Given the description of an element on the screen output the (x, y) to click on. 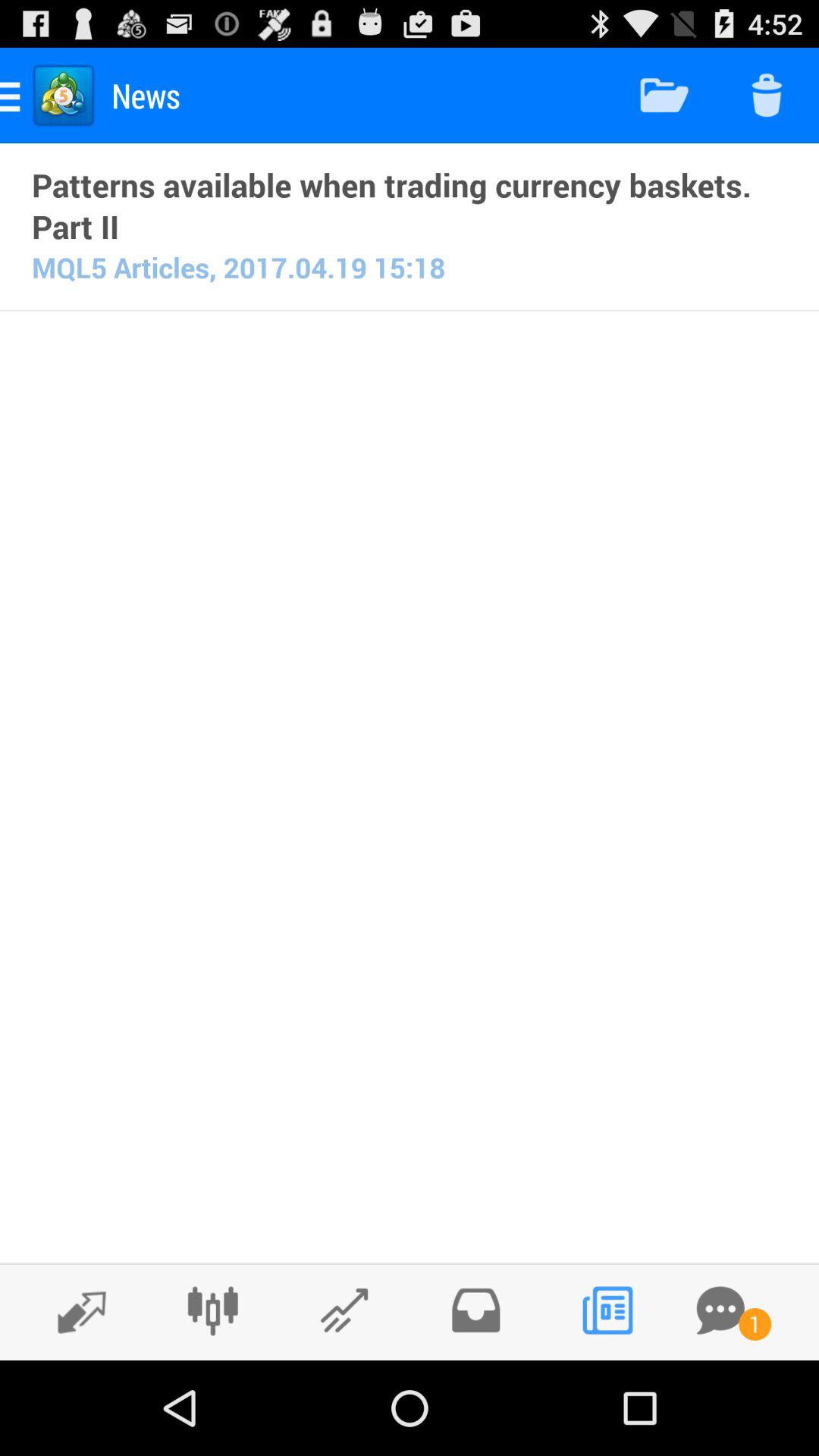
show asset list (73, 1311)
